Given the description of an element on the screen output the (x, y) to click on. 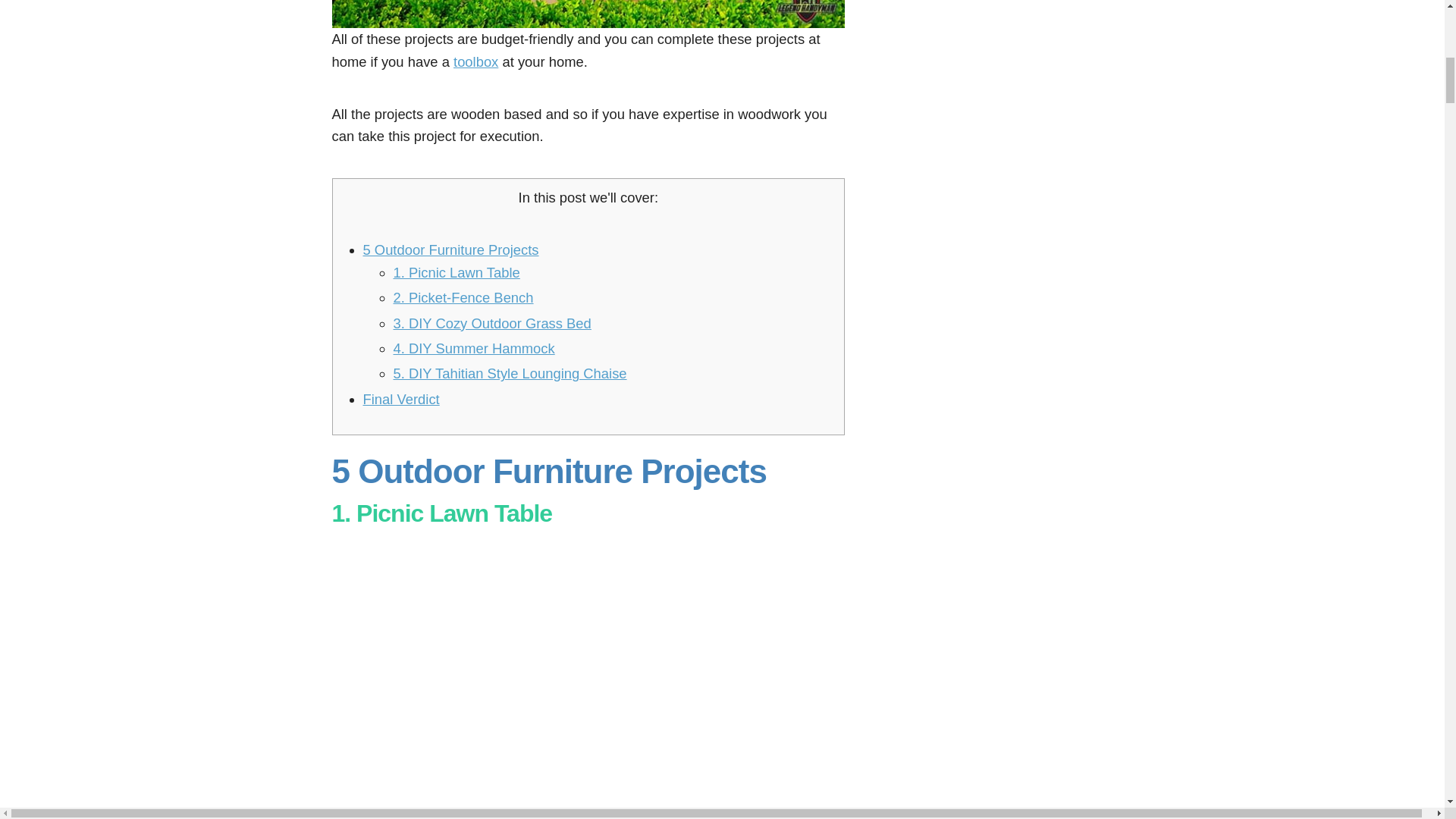
2. Picket-Fence Bench (462, 297)
Top 5 Industrial Strength Toolboxes Reviewed (474, 61)
4. DIY Summer Hammock (473, 348)
5. DIY Tahitian Style Lounging Chaise (509, 373)
5 Outdoor Furniture Projects (450, 249)
3. DIY Cozy Outdoor Grass Bed (492, 323)
1. Picnic Lawn Table (456, 272)
Final Verdict (400, 399)
toolbox (474, 61)
